Given the description of an element on the screen output the (x, y) to click on. 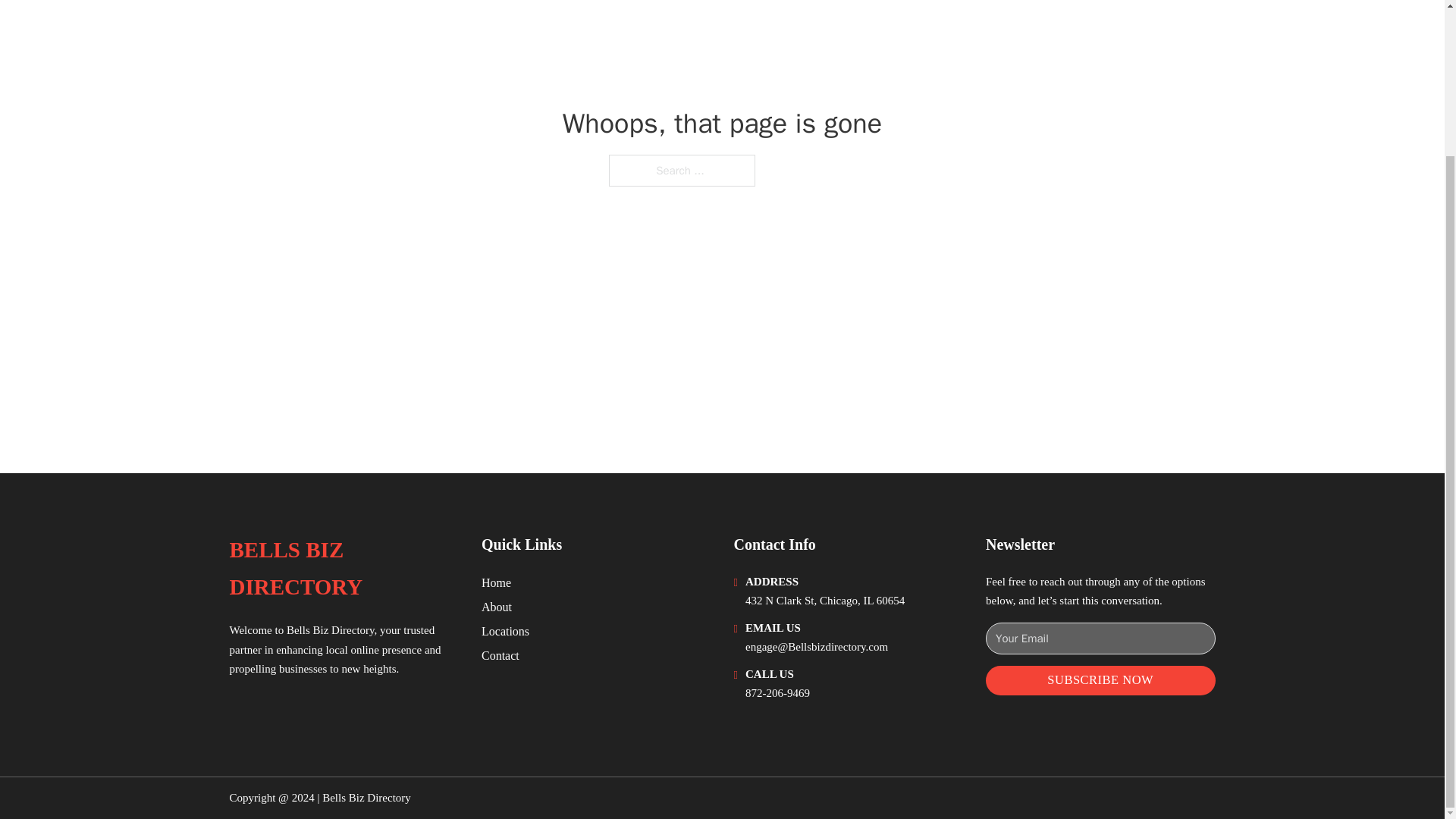
872-206-9469 (777, 693)
Locations (505, 630)
About (496, 607)
SUBSCRIBE NOW (1100, 680)
BELLS BIZ DIRECTORY (343, 568)
Contact (500, 655)
Home (496, 582)
